Given the description of an element on the screen output the (x, y) to click on. 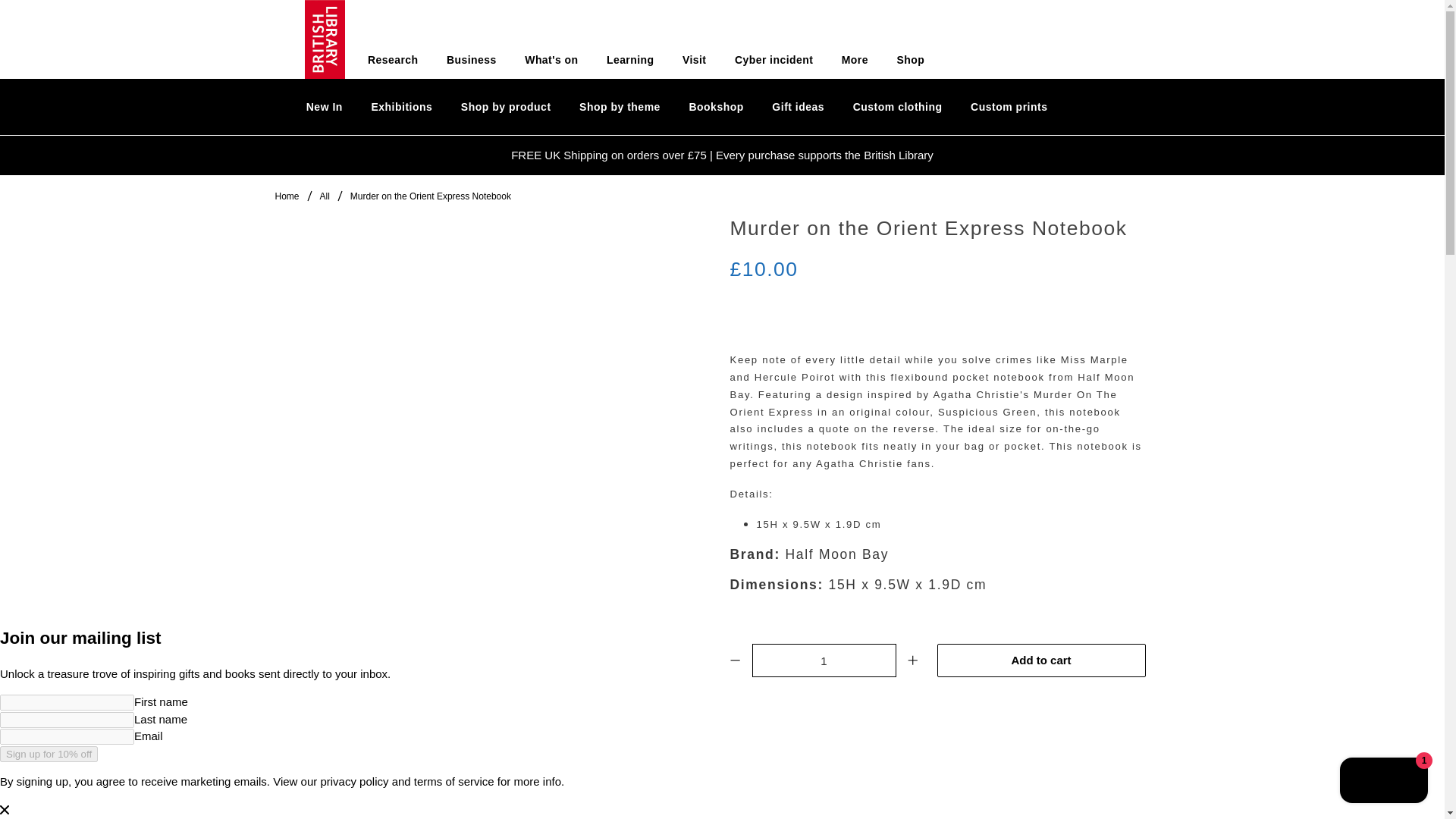
1 (824, 660)
Shopify online store chat (1383, 781)
Learning (630, 59)
British Library Online Shop (286, 195)
Research (392, 59)
New In (324, 107)
Visit (694, 59)
What's on (551, 59)
Cyber incident (773, 59)
Bookshop (716, 107)
Business (471, 59)
More (854, 59)
Shop by product (505, 107)
Shop by theme (619, 107)
